Given the description of an element on the screen output the (x, y) to click on. 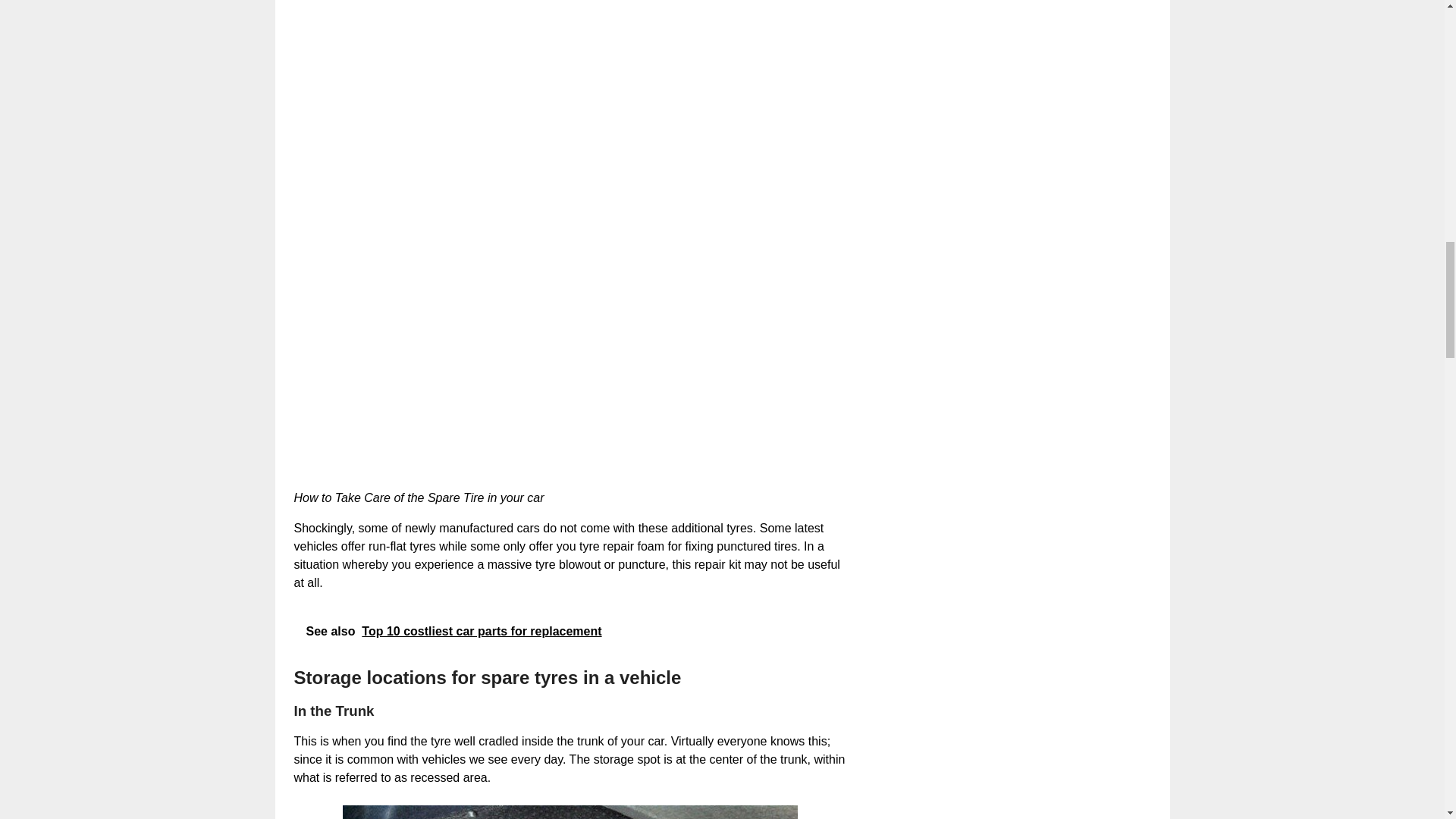
How to Take Care of the Spare Tire in your car (536, 340)
See also  Top 10 costliest car parts for replacement (570, 631)
